Given the description of an element on the screen output the (x, y) to click on. 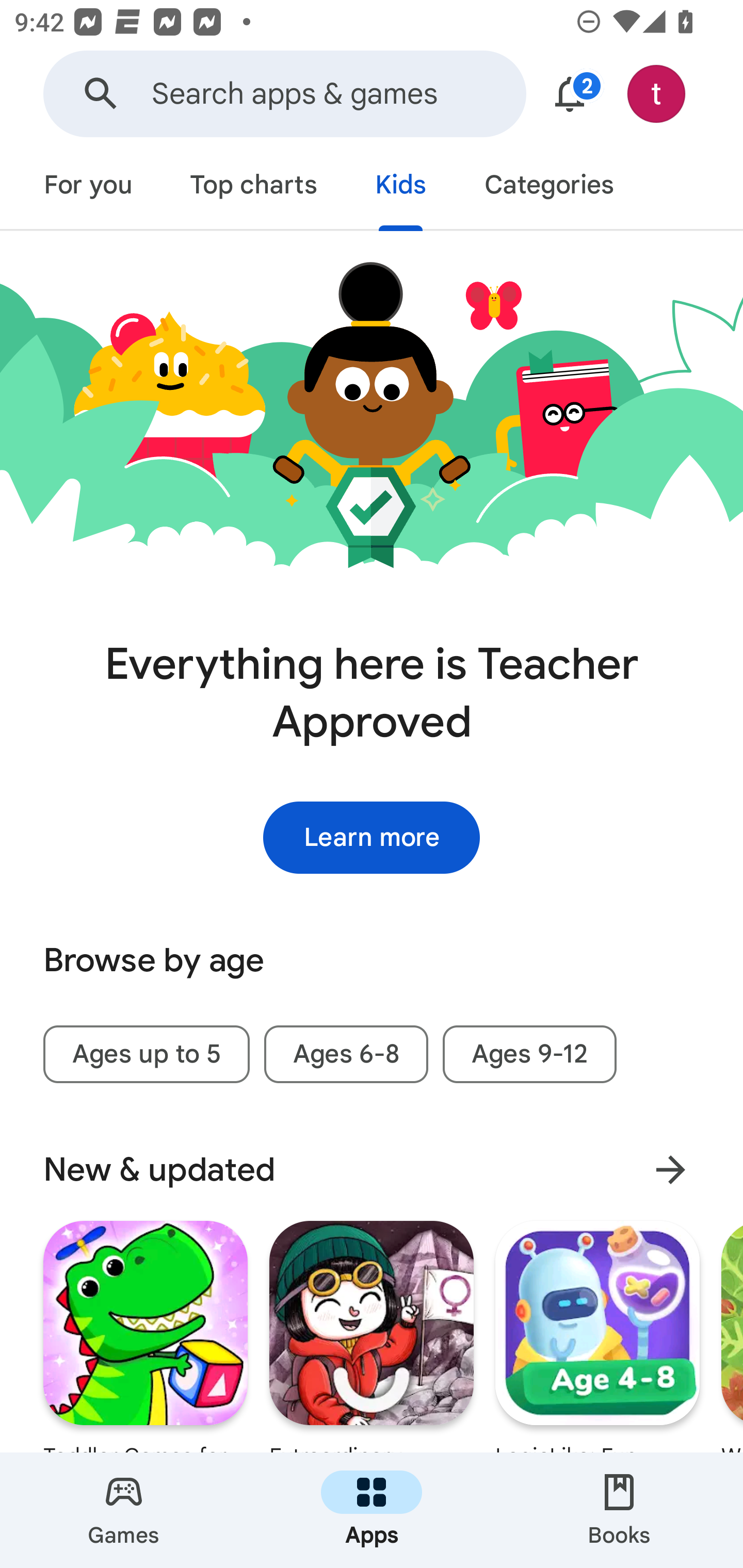
Search Google Play Search apps & games (284, 93)
Search Google Play (100, 93)
For you (87, 187)
Top charts (253, 187)
Categories (548, 187)
Ages up to 5 - tap the chip to check the content. (146, 1054)
Ages 6-8 - tap the chip to check the content. (345, 1054)
Ages 9-12 - tap the chip to check the content. (529, 1054)
New & updated More results for New & updated (371, 1169)
More results for New & updated (670, 1169)
Toddler Games for 2-5 Year old
Star rating: 4.3
 (145, 1335)
Extraordinary Women
Star rating: 3.9
 (371, 1335)
LogicLike: Fun learning games
Star rating: 4.7
 (597, 1335)
Games (123, 1509)
Books (619, 1509)
